Given the description of an element on the screen output the (x, y) to click on. 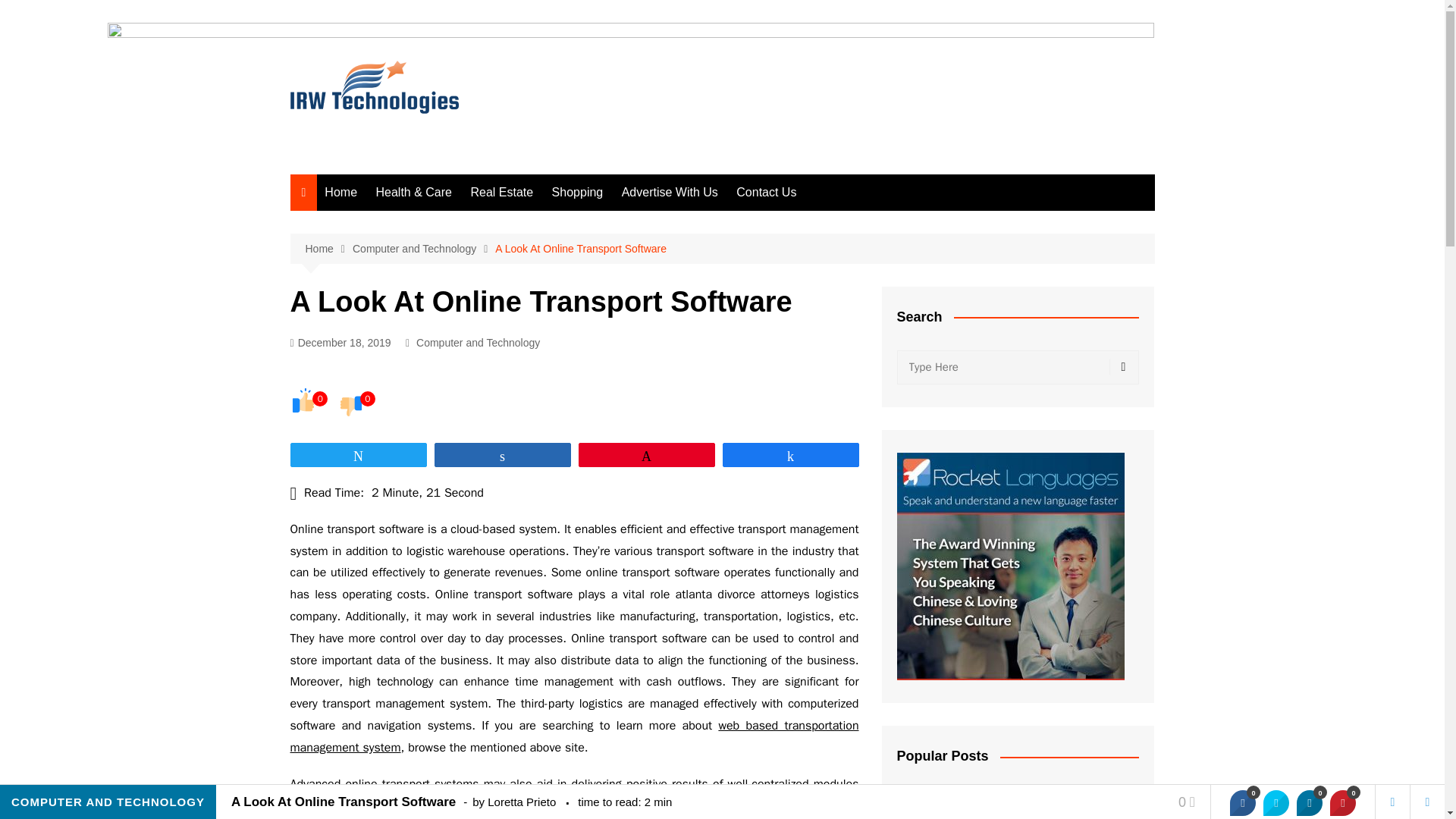
Computer and Technology (478, 342)
Share on Linkedin (1309, 802)
A Look At Online Transport Software (580, 248)
Share on Facebook (1242, 802)
Shopping (577, 192)
Contact Us (766, 192)
Share on Pinterest (1342, 802)
Home (328, 248)
web based transportation management system (574, 736)
Home (341, 192)
Advertise With Us (669, 192)
December 18, 2019 (339, 343)
Computer and Technology (423, 248)
Share on Twitter (1275, 802)
Real Estate (501, 192)
